Given the description of an element on the screen output the (x, y) to click on. 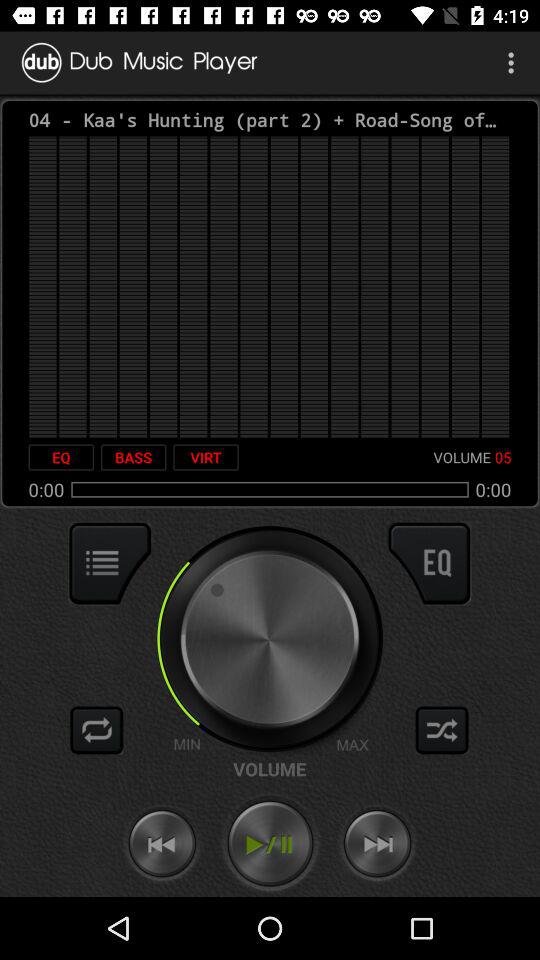
see my library or playlist (110, 563)
